Given the description of an element on the screen output the (x, y) to click on. 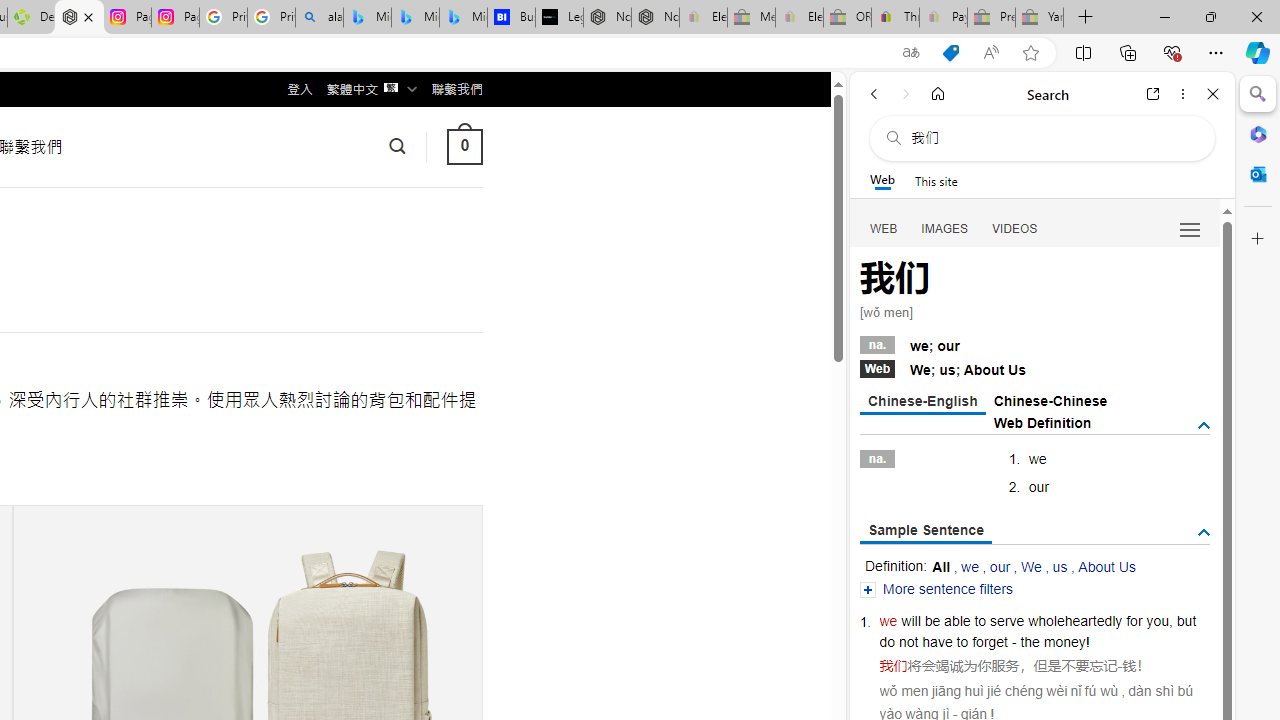
forget (989, 642)
AutomationID: tgdef (1203, 425)
We (1030, 566)
Threats and offensive language policy | eBay (895, 17)
Microsoft Bing Travel - Flights from Hong Kong to Bangkok (367, 17)
Us (1017, 370)
us (1059, 566)
AutomationID: tgdef_sen (1203, 533)
